Given the description of an element on the screen output the (x, y) to click on. 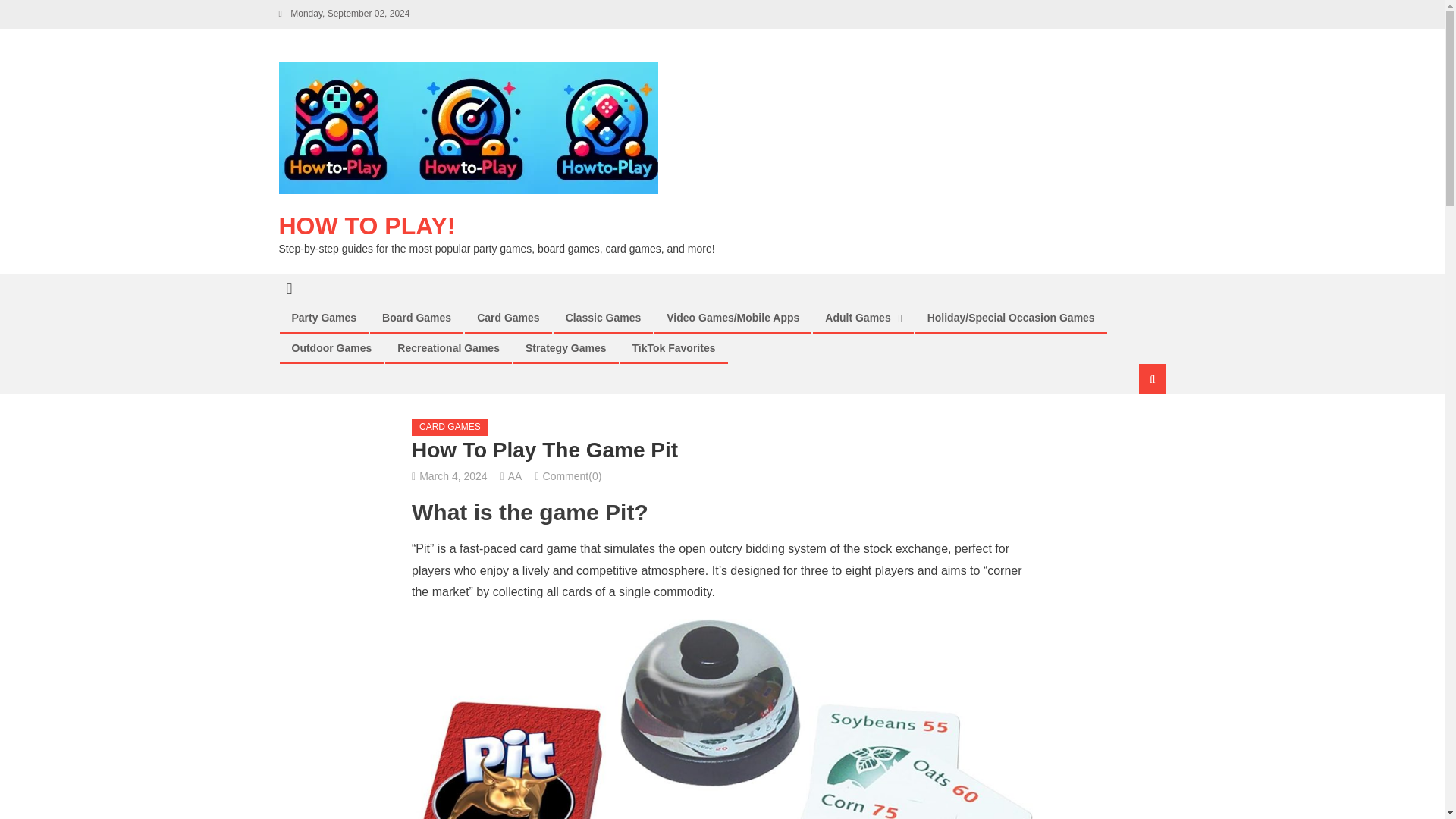
AA (515, 476)
CARD GAMES (449, 427)
March 4, 2024 (453, 476)
Classic Games (603, 317)
Strategy Games (565, 347)
Card Games (507, 317)
Board Games (417, 317)
HOW TO PLAY! (367, 225)
Adult Games (857, 317)
Recreational Games (448, 347)
